Given the description of an element on the screen output the (x, y) to click on. 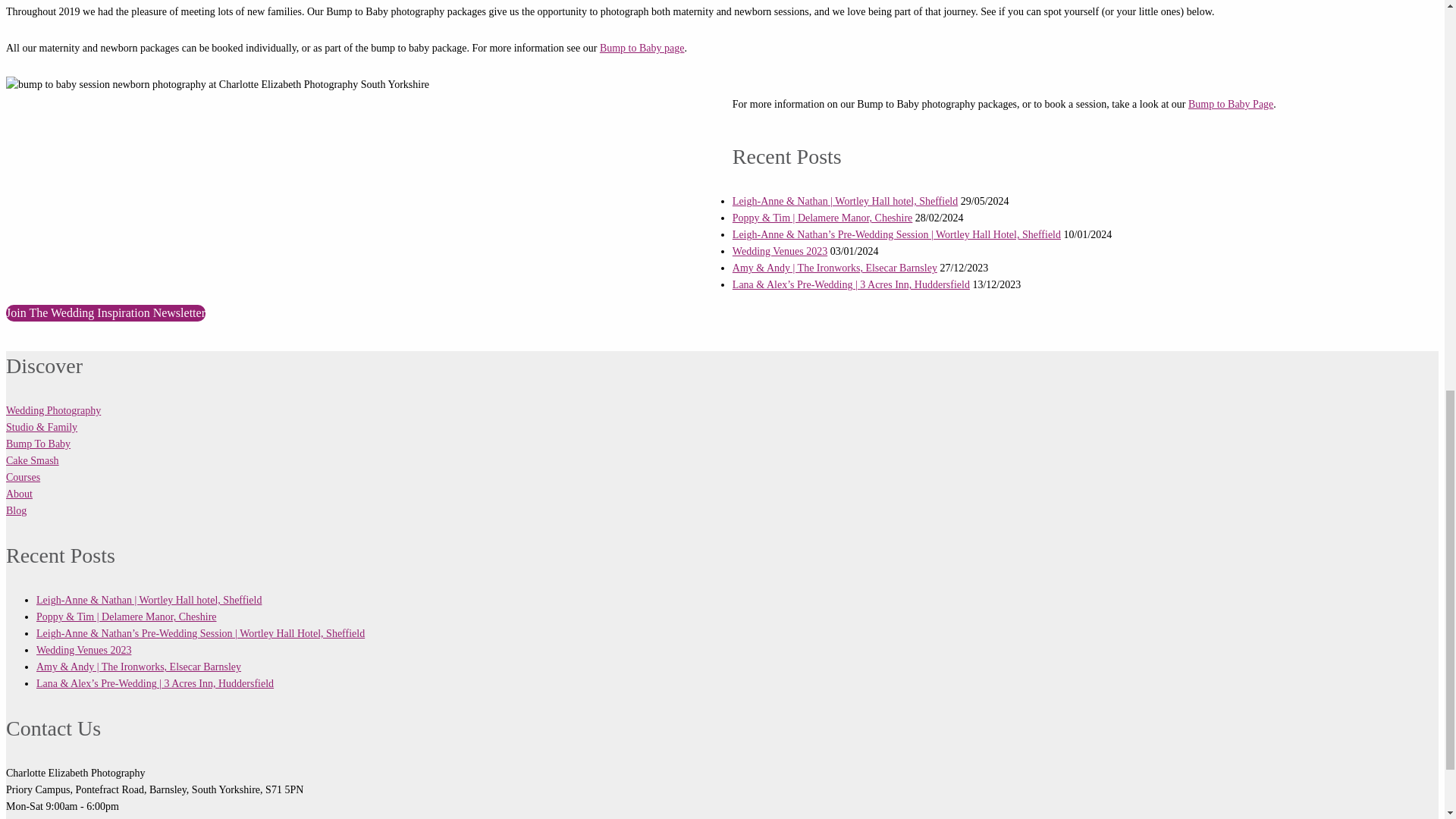
Wedding Venues 2023 (779, 251)
